Given the description of an element on the screen output the (x, y) to click on. 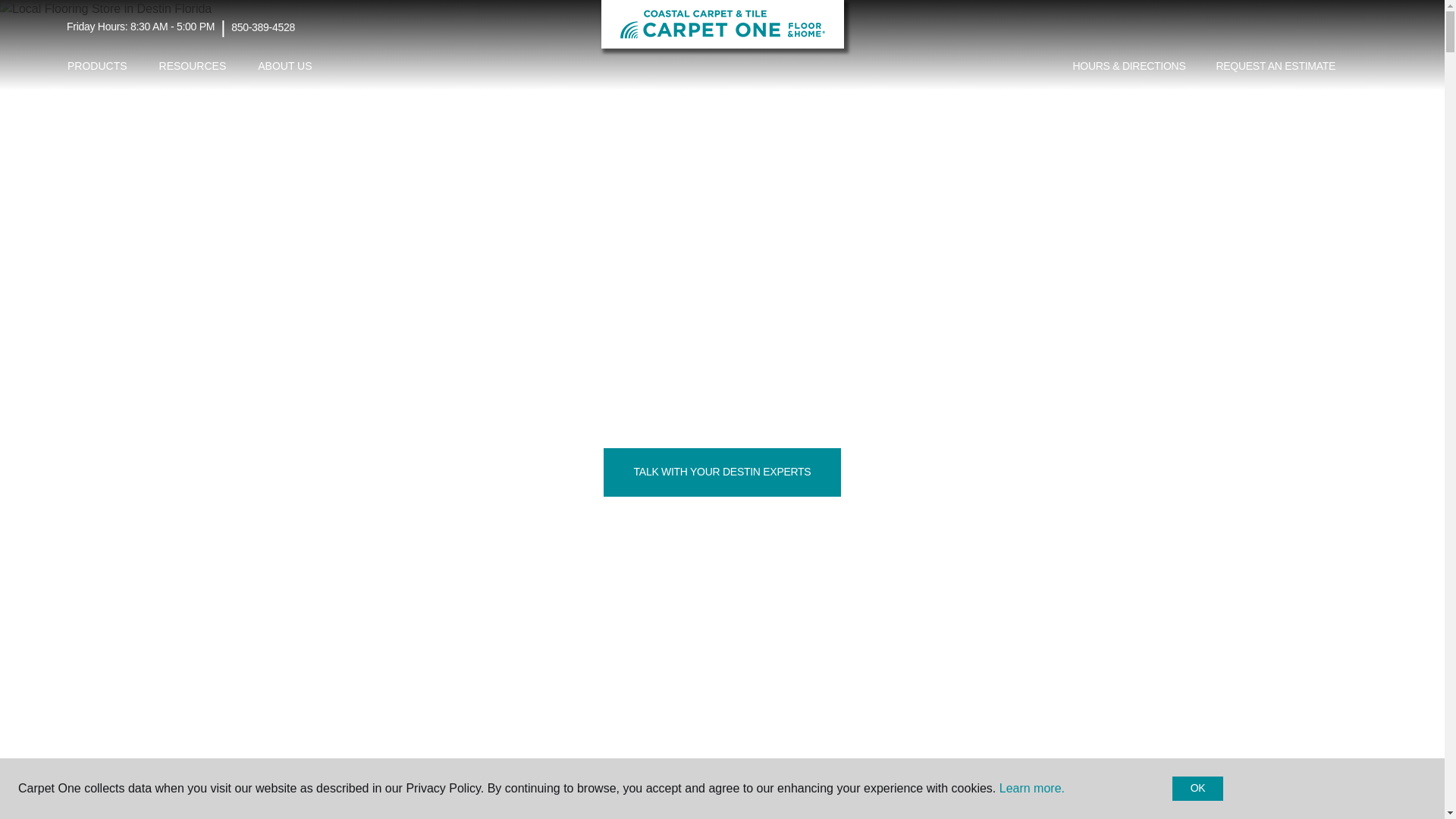
ABOUT US (284, 66)
850-389-4528 (263, 27)
PRODUCTS (97, 66)
REQUEST AN ESTIMATE (1276, 66)
RESOURCES (193, 66)
